Given the description of an element on the screen output the (x, y) to click on. 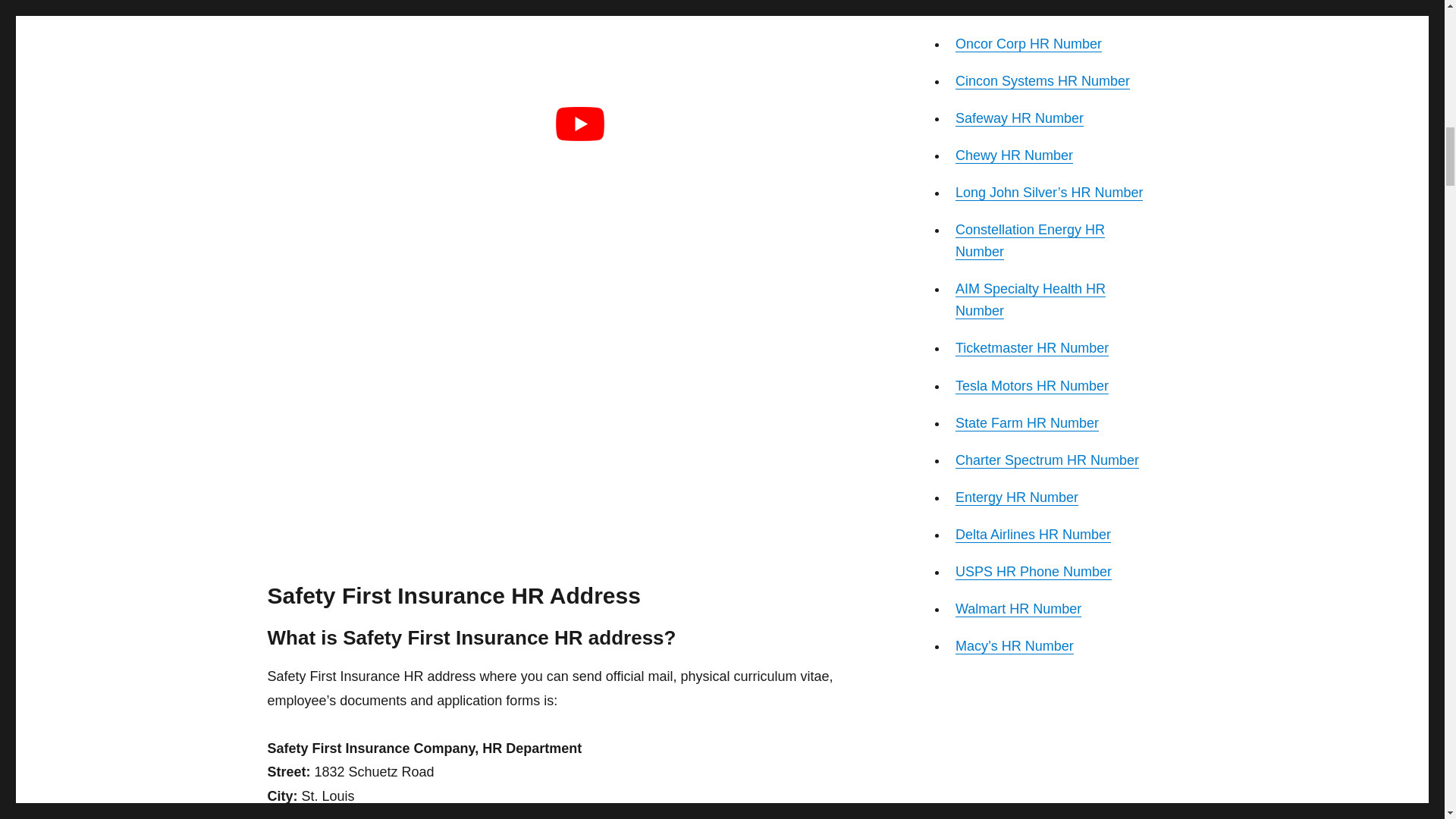
Oncor Corp HR Number (1028, 43)
Turner Industries Group HR Number (1038, 7)
Safeway HR Number (1019, 118)
Cincon Systems HR Number (1042, 80)
Chewy HR Number (1014, 155)
Constellation Energy HR Number (1030, 240)
AIM Specialty Health HR Number (1030, 299)
